Given the description of an element on the screen output the (x, y) to click on. 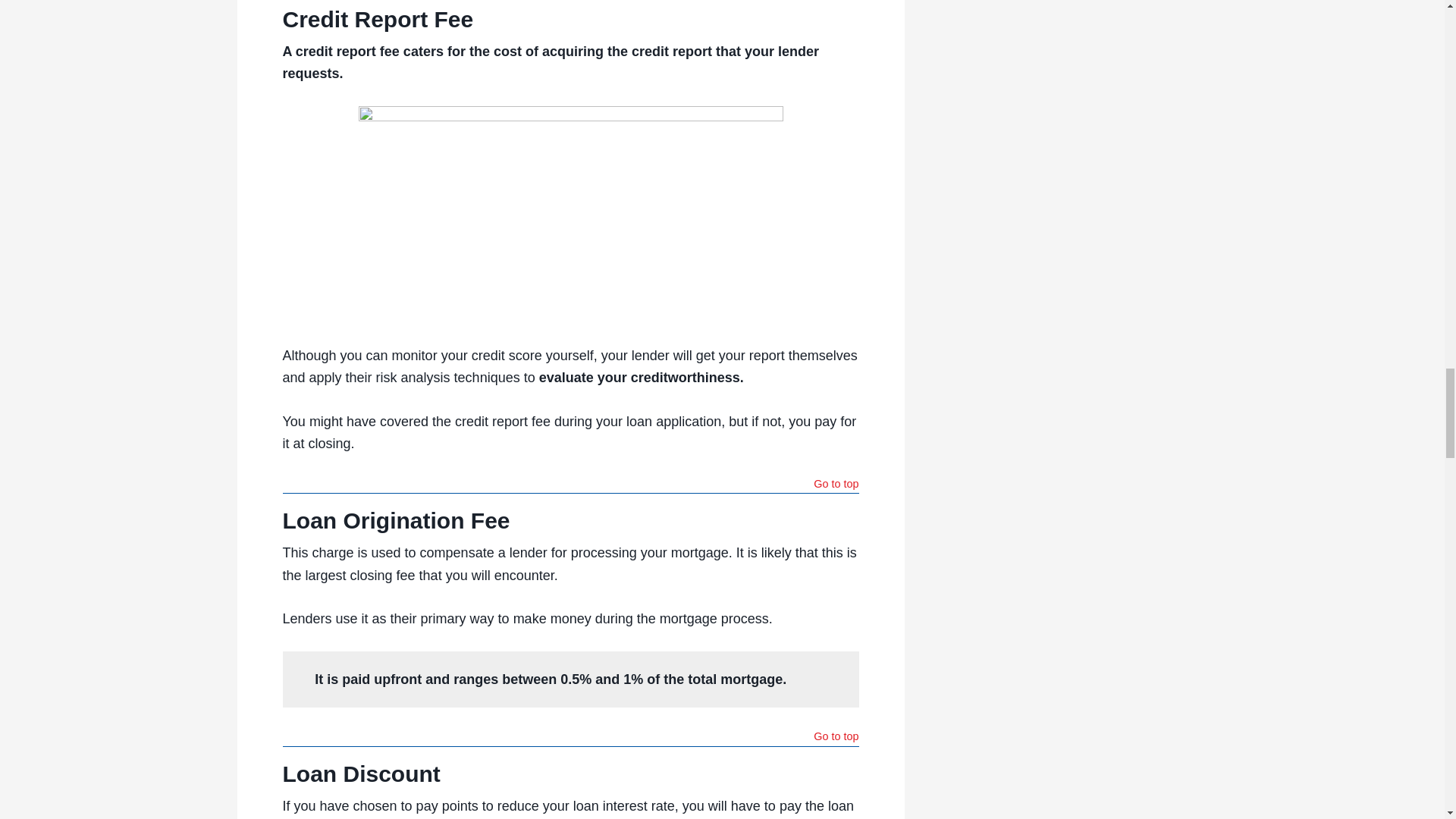
Go to top (836, 485)
Go to top (836, 738)
